Given the description of an element on the screen output the (x, y) to click on. 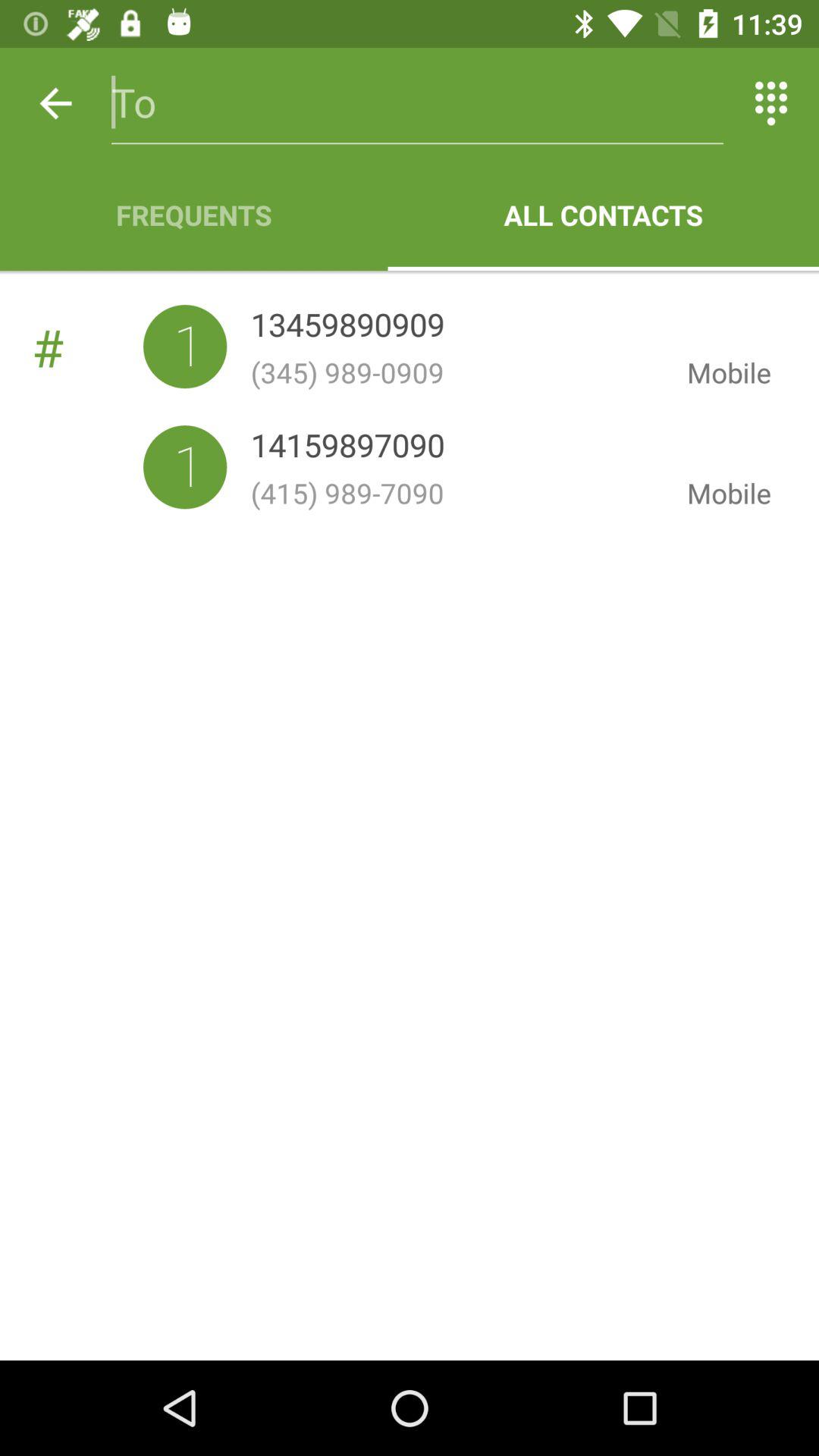
press the icon to the left of all contacts item (193, 214)
